Given the description of an element on the screen output the (x, y) to click on. 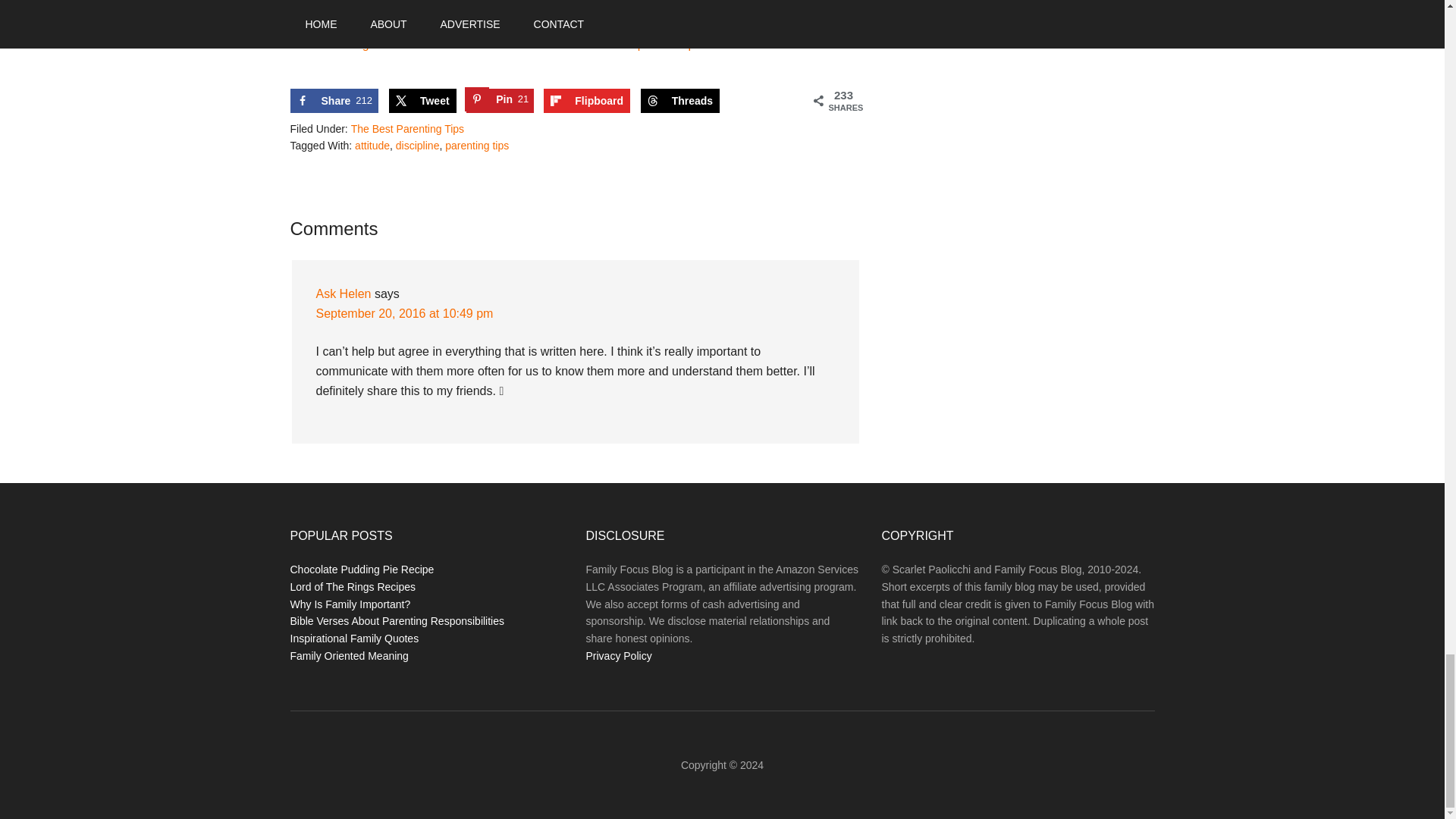
Tweet (422, 100)
Share on Flipboard (586, 100)
10 Benefits of Spending Time With Family (402, 5)
Save to Pinterest (499, 100)
Share on Facebook (333, 100)
Share on X (333, 100)
Share on Threads (422, 100)
